Given the description of an element on the screen output the (x, y) to click on. 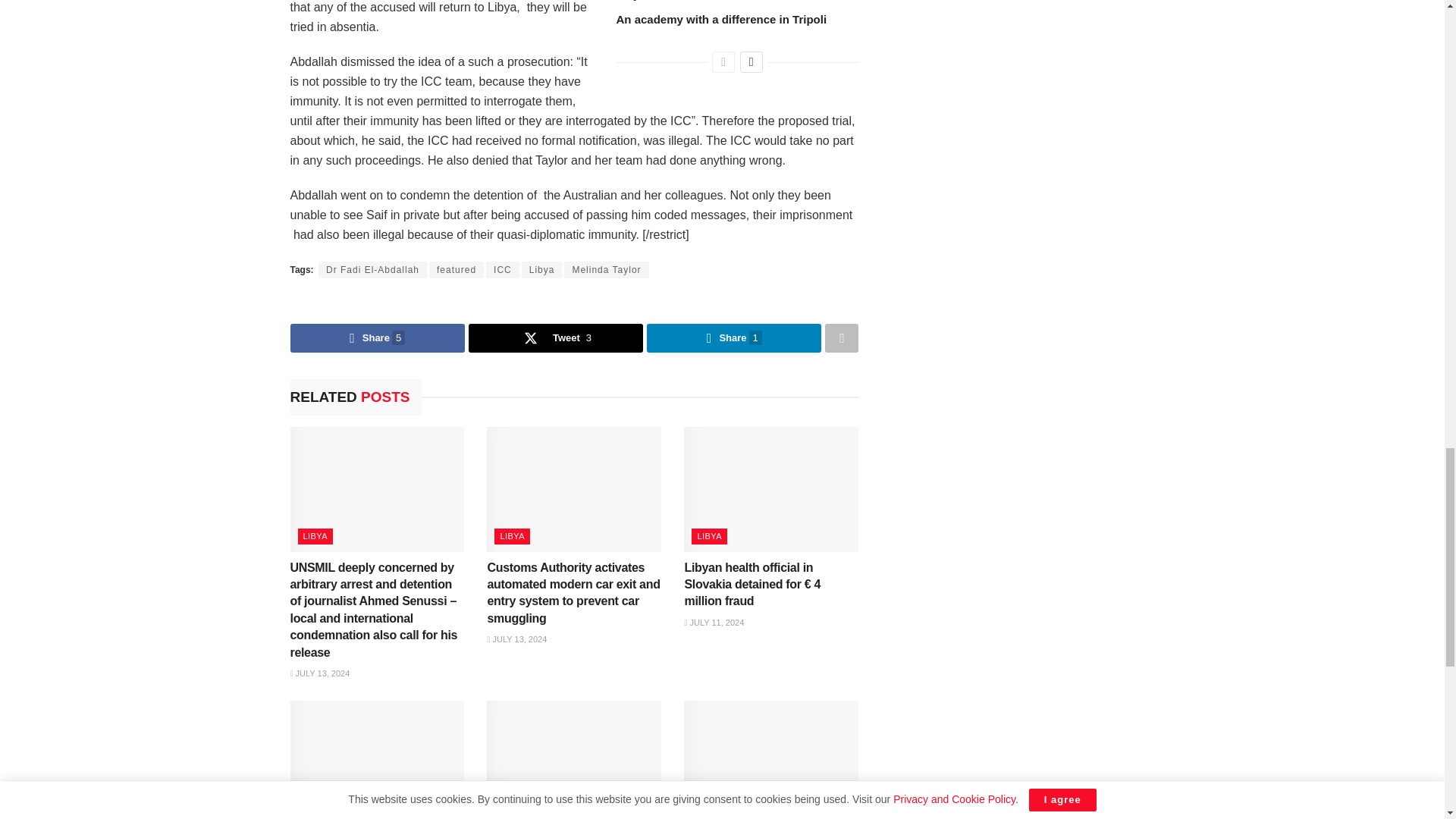
Previous (723, 61)
Next (750, 61)
